Given the description of an element on the screen output the (x, y) to click on. 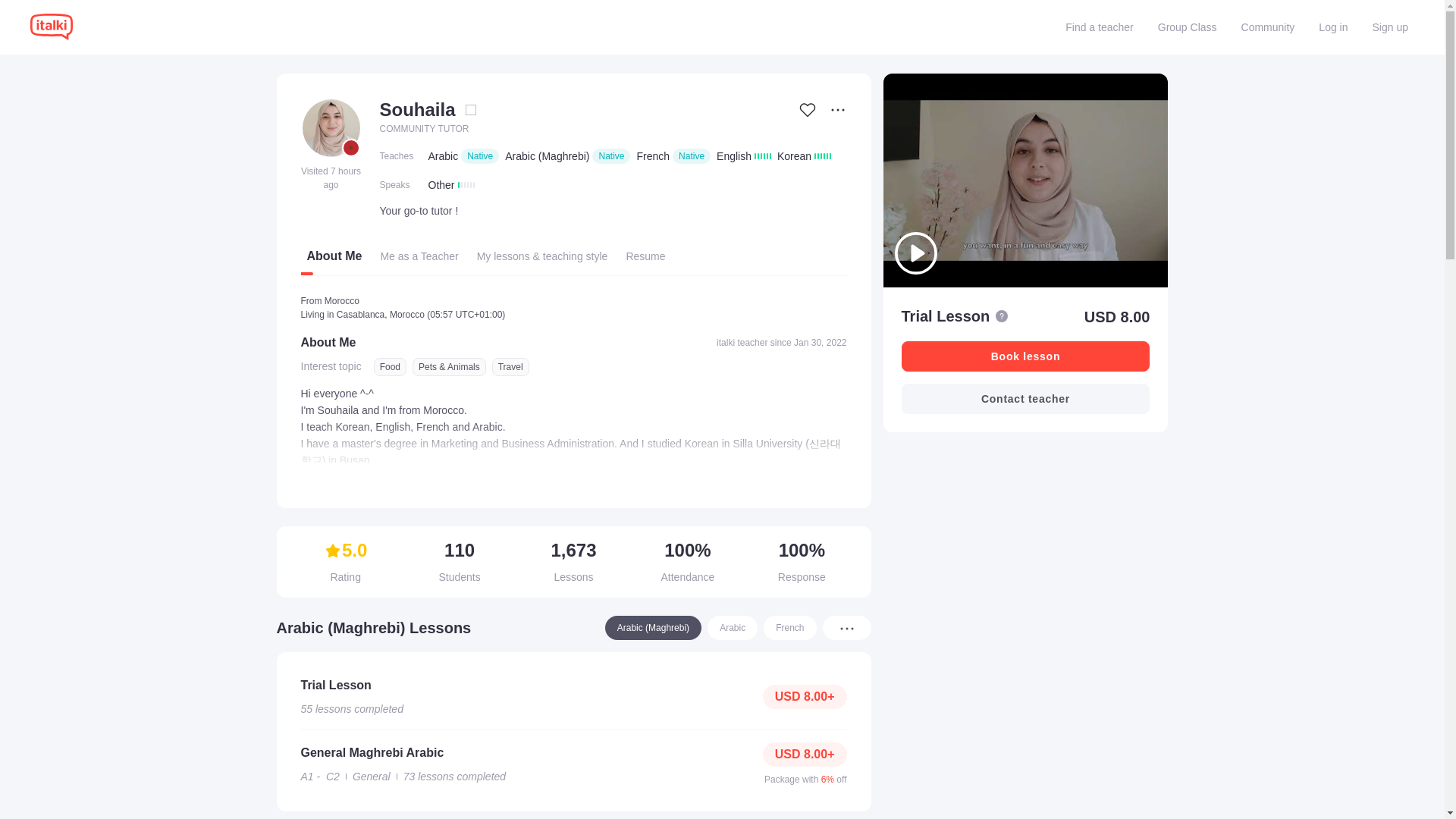
Contact teacher (1025, 399)
Community (1267, 27)
Find a teacher (1099, 27)
Group Class (1187, 27)
Book lesson (1025, 356)
